Given the description of an element on the screen output the (x, y) to click on. 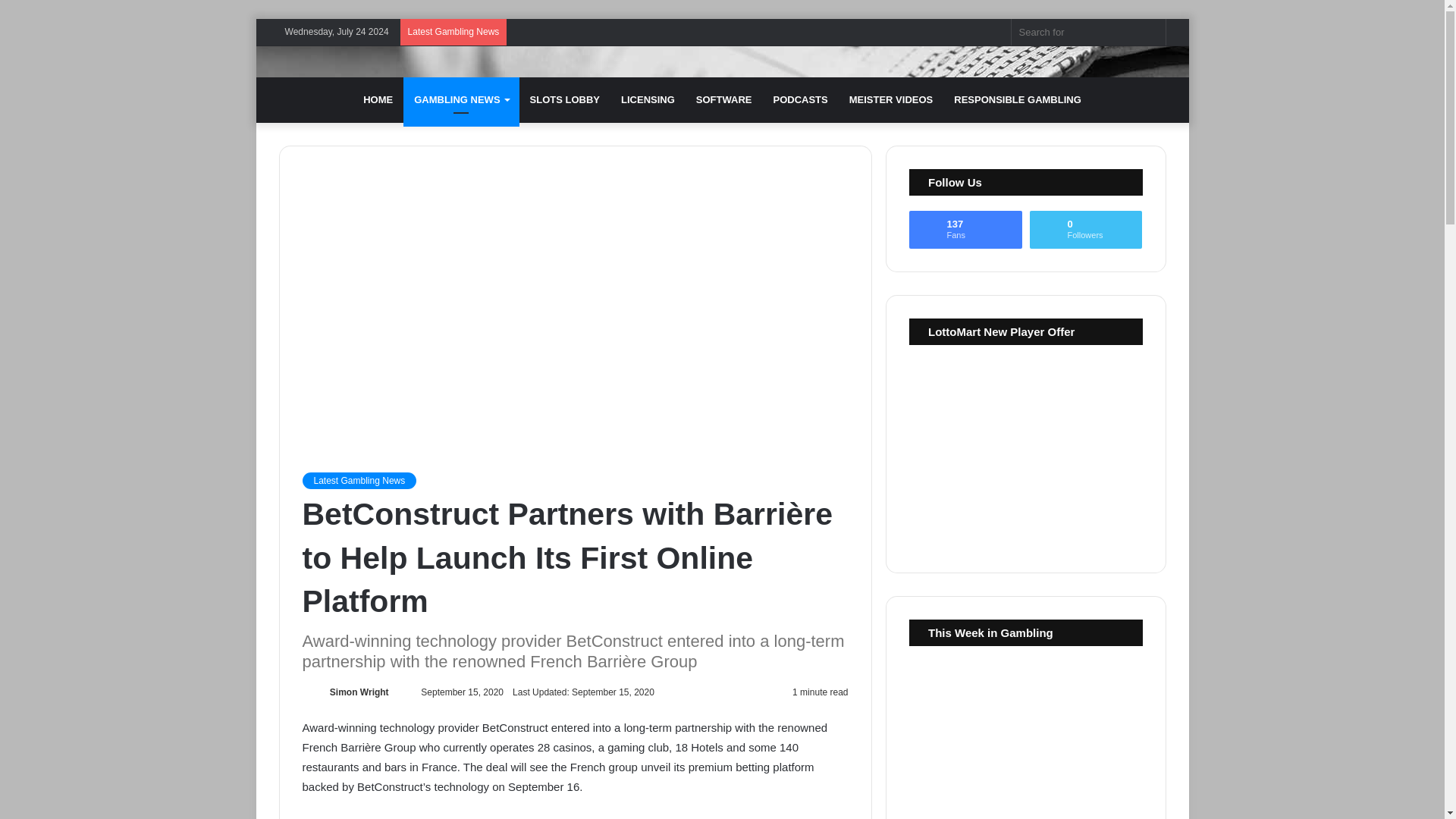
Simon Wright (359, 692)
Latest Gambling News (358, 480)
GAMBLING NEWS (460, 99)
Search for (1149, 31)
MEISTER VIDEOS (890, 99)
LICENSING (647, 99)
Simon Wright (359, 692)
HOME (377, 99)
PODCASTS (799, 99)
RESPONSIBLE GAMBLING (1017, 99)
Search for (1088, 31)
SLOTS LOBBY (564, 99)
SOFTWARE (723, 99)
